Given the description of an element on the screen output the (x, y) to click on. 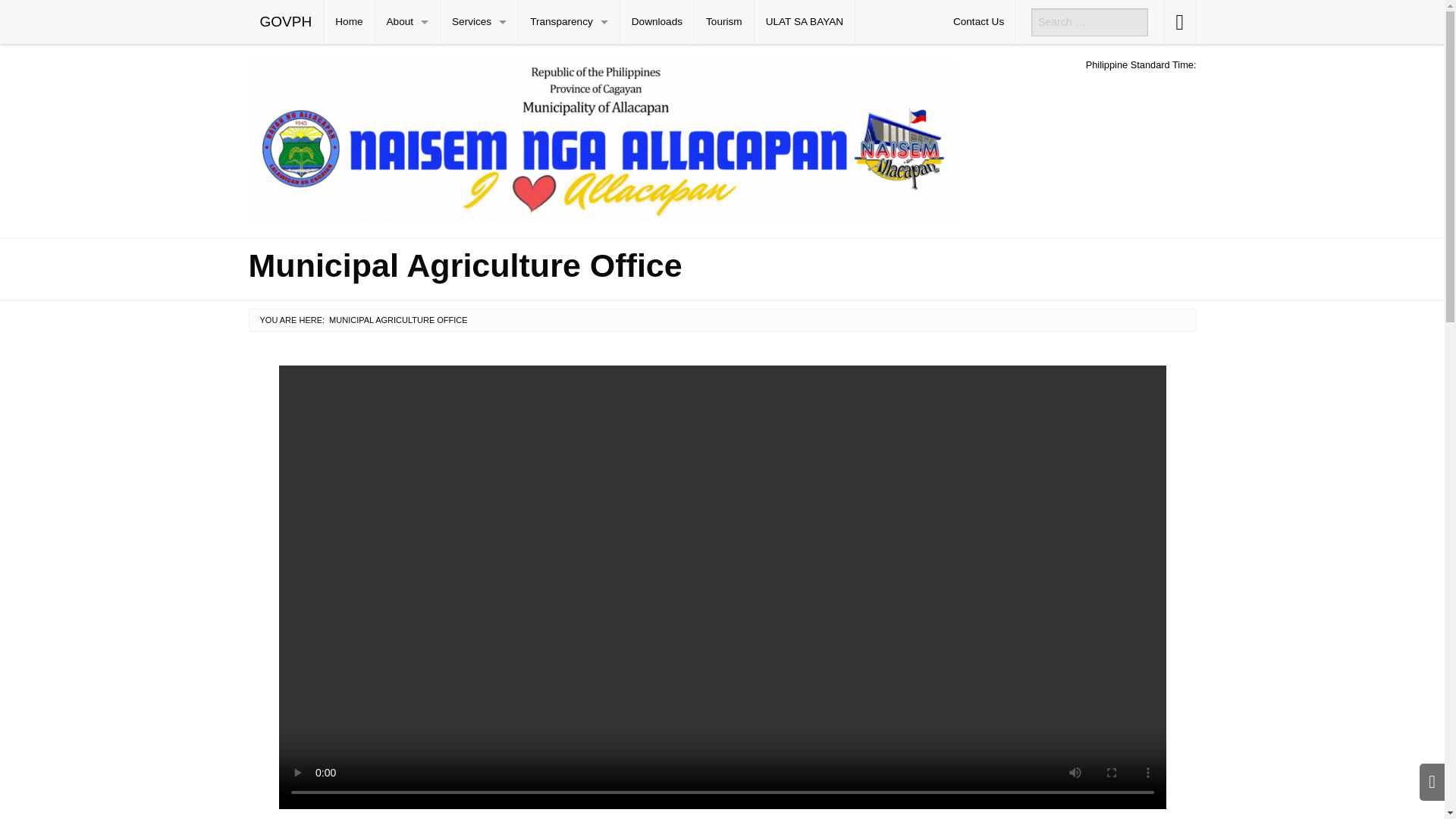
Search for: (1089, 21)
Allacapan Official Website (600, 137)
